Given the description of an element on the screen output the (x, y) to click on. 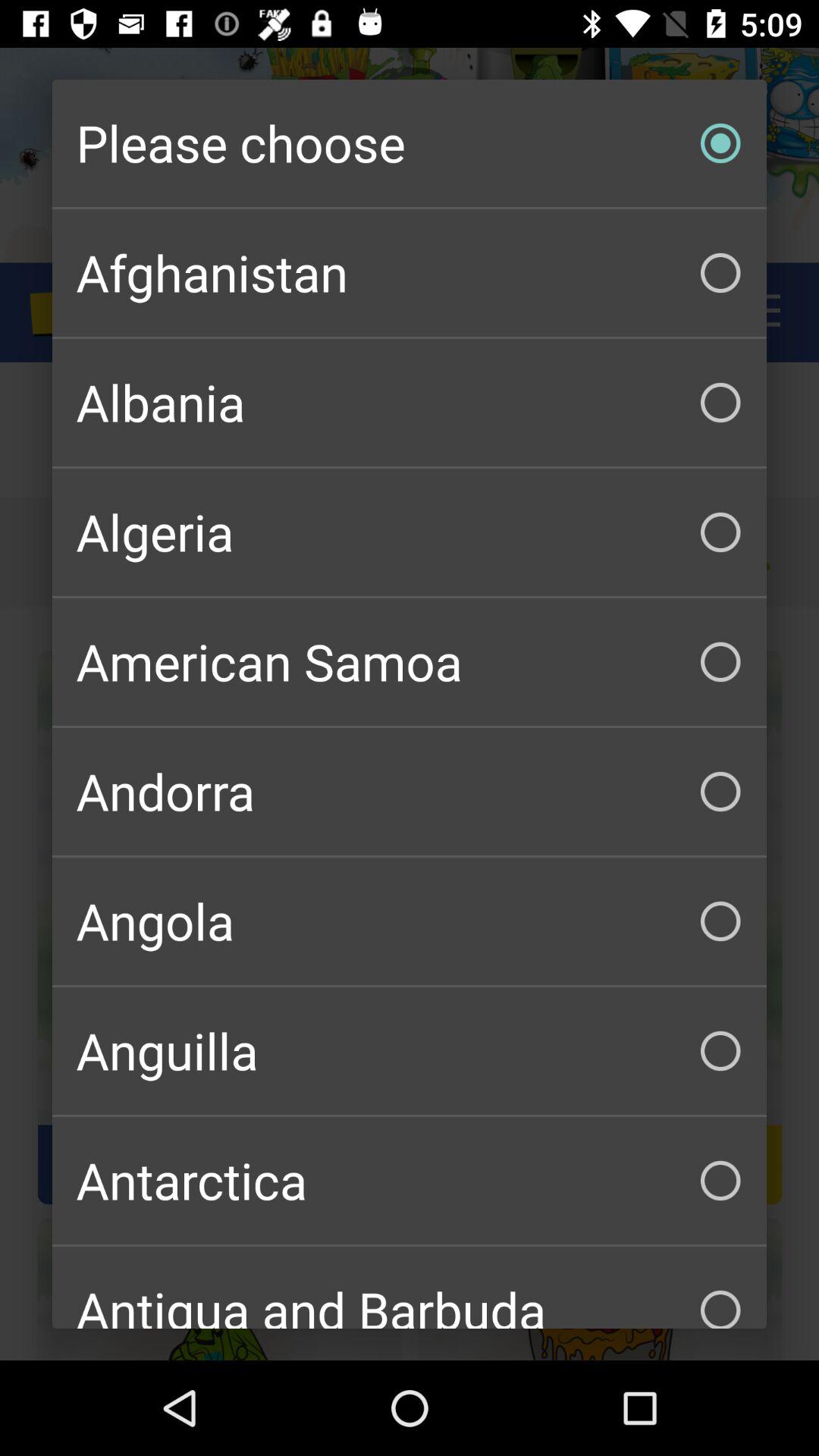
open the checkbox above american samoa checkbox (409, 532)
